Given the description of an element on the screen output the (x, y) to click on. 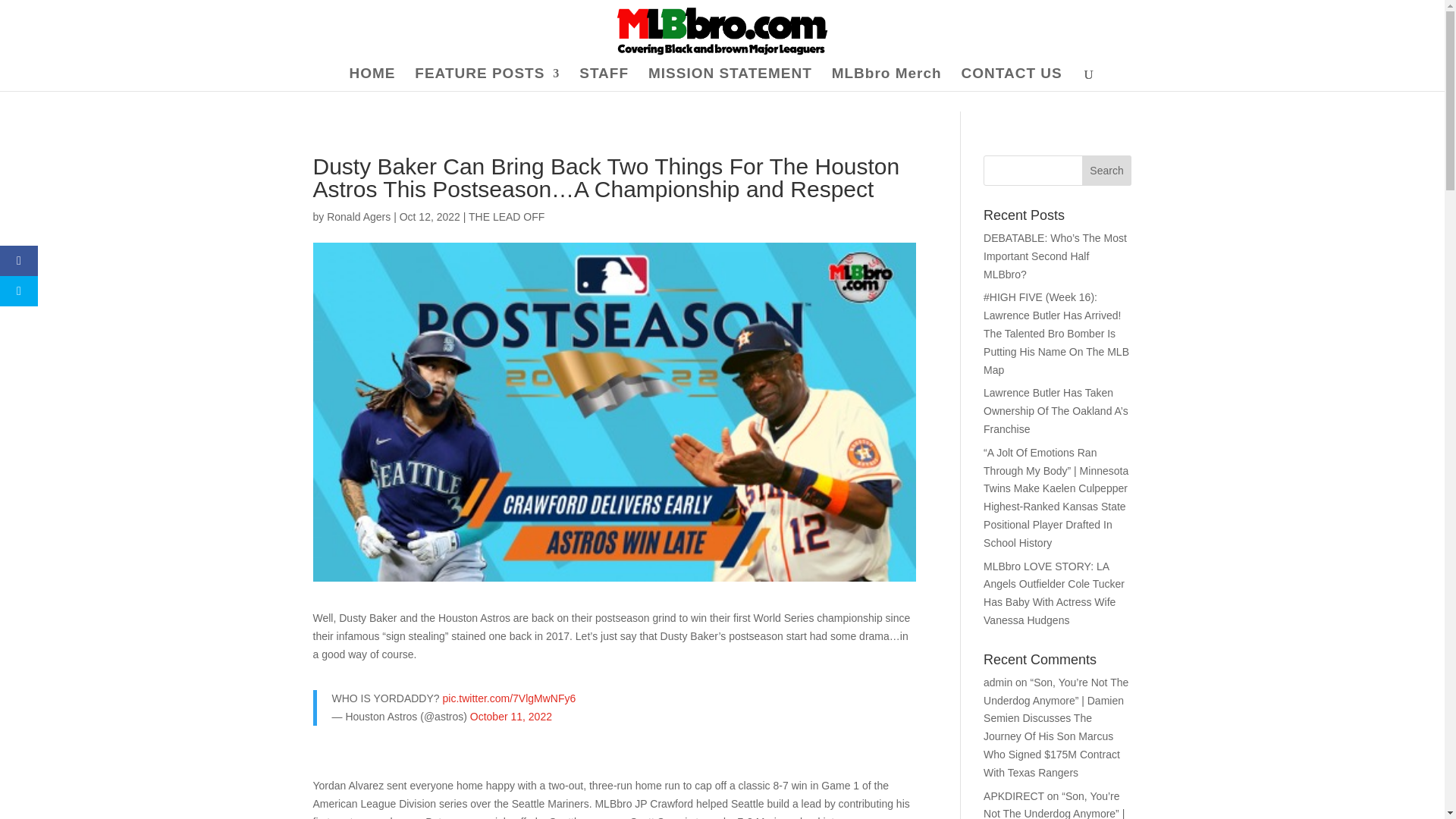
Search (1106, 170)
THE LEAD OFF (506, 216)
STAFF (603, 78)
admin (997, 682)
MLBbro Merch (886, 78)
Search (1106, 170)
MISSION STATEMENT (729, 78)
CONTACT US (1011, 78)
FEATURE POSTS (486, 78)
Ronald Agers (358, 216)
APKDIRECT (1013, 796)
October 11, 2022 (510, 716)
Posts by Ronald Agers (358, 216)
HOME (371, 78)
